Given the description of an element on the screen output the (x, y) to click on. 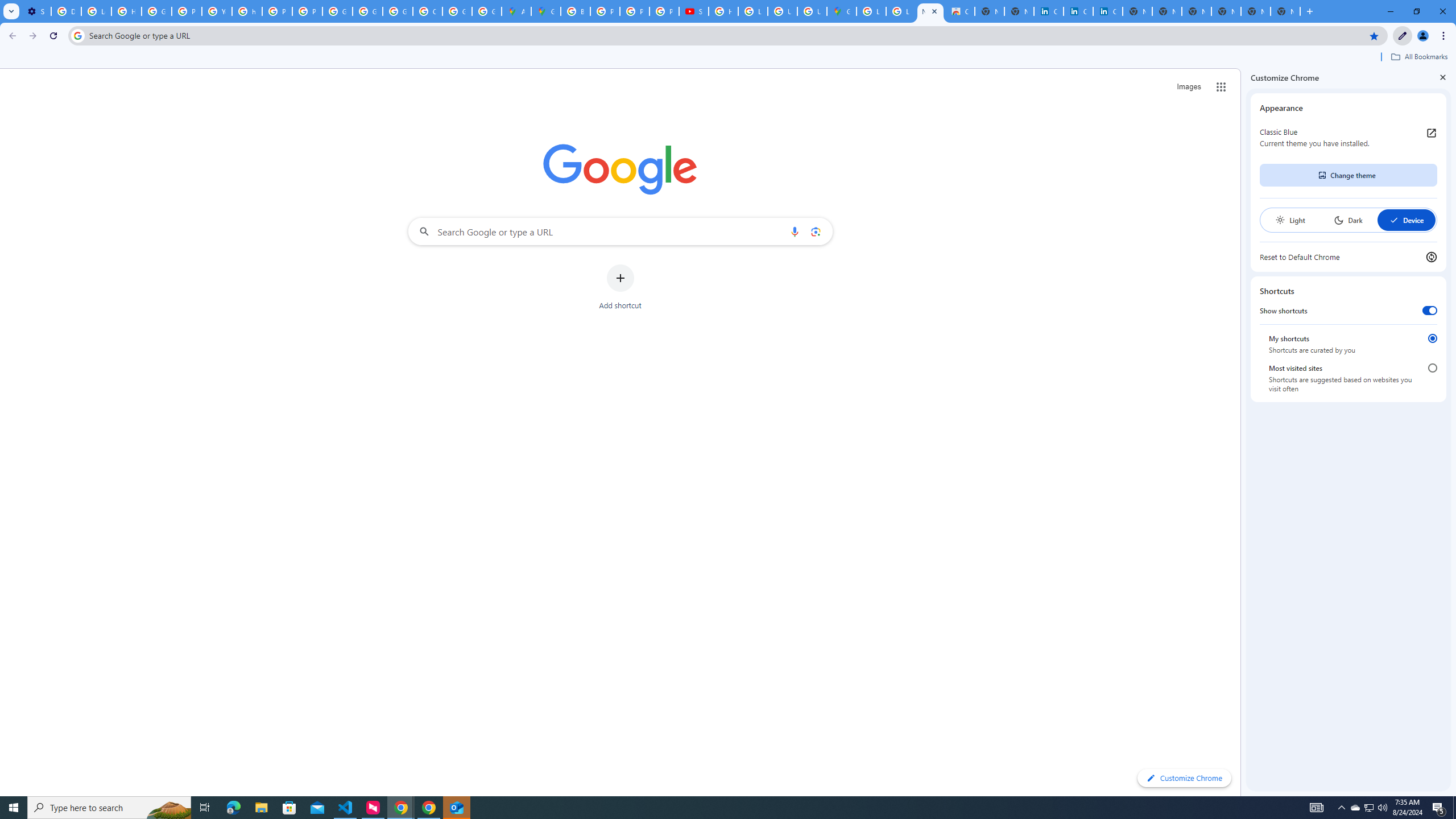
Classic Blue Current theme you have installed. (1347, 137)
Show shortcuts (1429, 310)
Cookie Policy | LinkedIn (1077, 11)
Privacy Help Center - Policies Help (185, 11)
Google Maps (545, 11)
Privacy Help Center - Policies Help (604, 11)
Google Maps (841, 11)
